Given the description of an element on the screen output the (x, y) to click on. 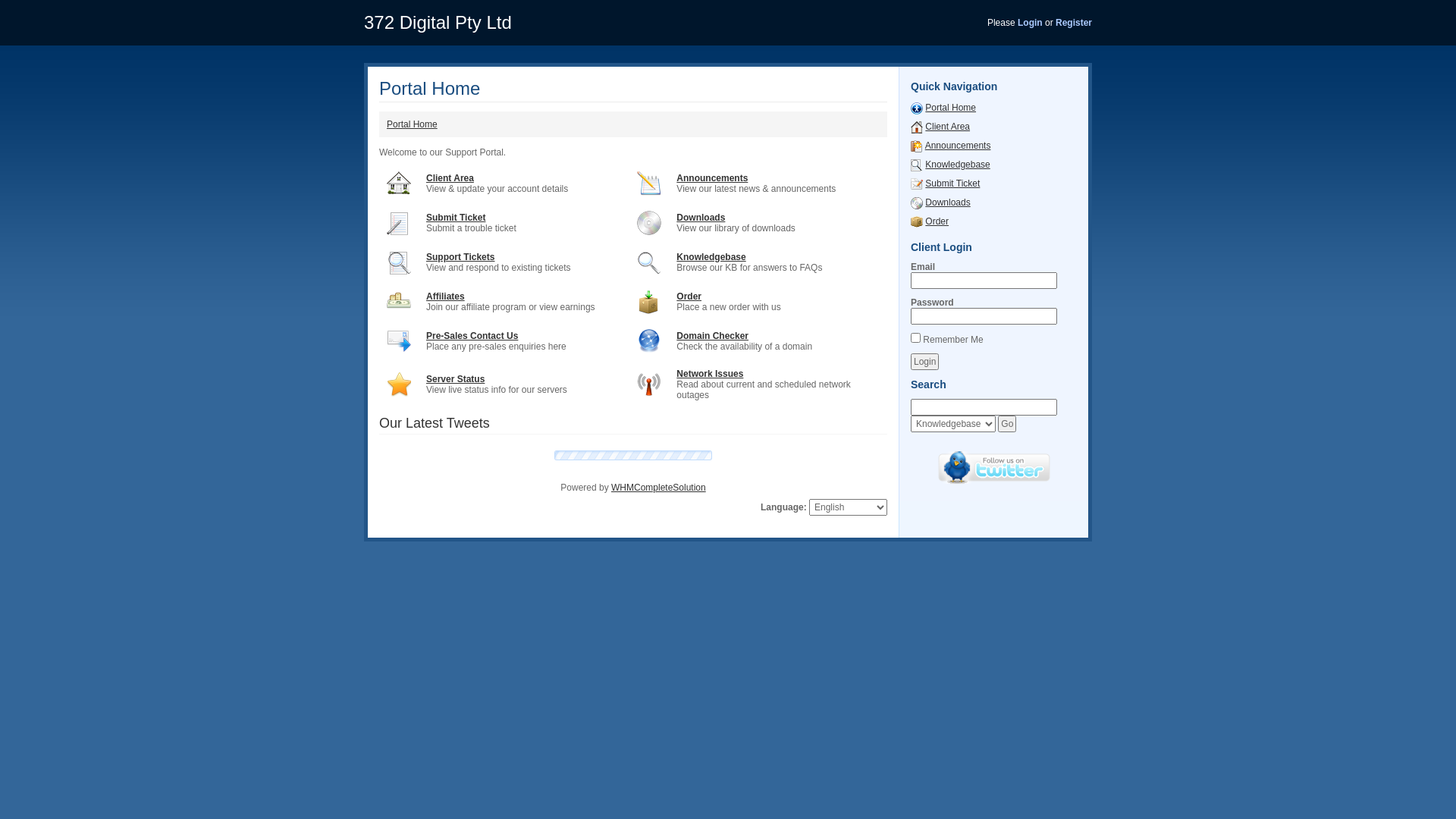
Knowledgebase Element type: text (710, 256)
Order Element type: text (688, 296)
Go Element type: text (1006, 423)
Order Element type: hover (916, 221)
Portal Home Element type: text (950, 107)
WHMCompleteSolution Element type: text (658, 487)
Client Area Element type: text (449, 177)
Announcements Element type: hover (916, 145)
Knowledgebase Element type: text (957, 164)
Submit Ticket Element type: hover (916, 183)
Server Status Element type: text (455, 378)
Affiliates Element type: text (445, 296)
Downloads Element type: text (700, 217)
Register Element type: text (1073, 22)
Announcements Element type: text (958, 145)
Knowledgebase Element type: hover (916, 164)
Pre-Sales Contact Us Element type: text (471, 335)
Downloads Element type: text (947, 202)
Domain Checker Element type: text (712, 335)
Submit Ticket Element type: text (455, 217)
Order Element type: text (936, 221)
Login Element type: text (1029, 22)
Downloads Element type: hover (916, 202)
Announcements Element type: text (711, 177)
Submit Ticket Element type: text (952, 183)
Login Element type: text (924, 361)
Client Area Element type: text (947, 126)
Support Tickets Element type: text (460, 256)
Portal Home Element type: text (411, 124)
Network Issues Element type: text (709, 373)
